Given the description of an element on the screen output the (x, y) to click on. 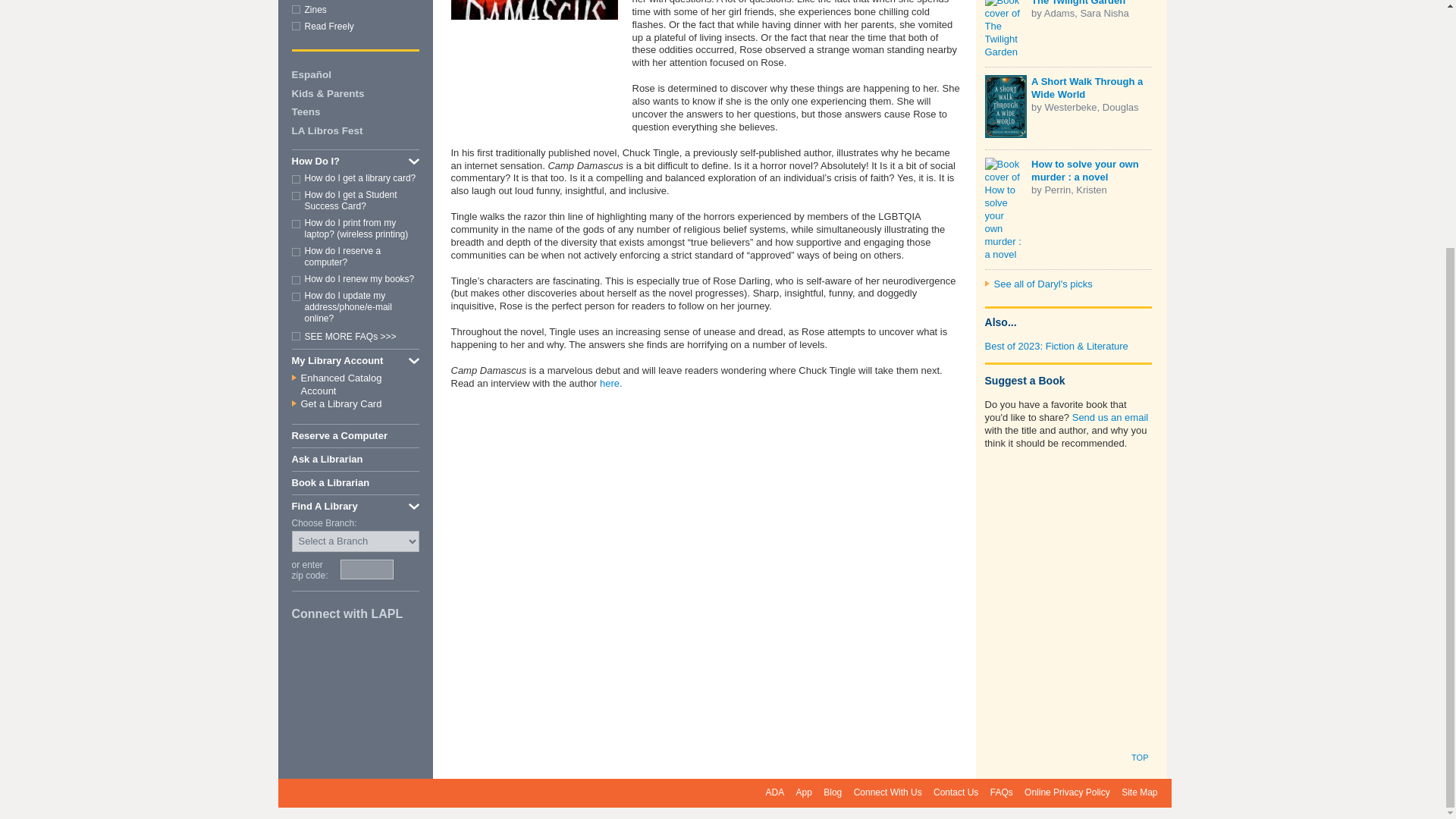
Find It (409, 569)
